Given the description of an element on the screen output the (x, y) to click on. 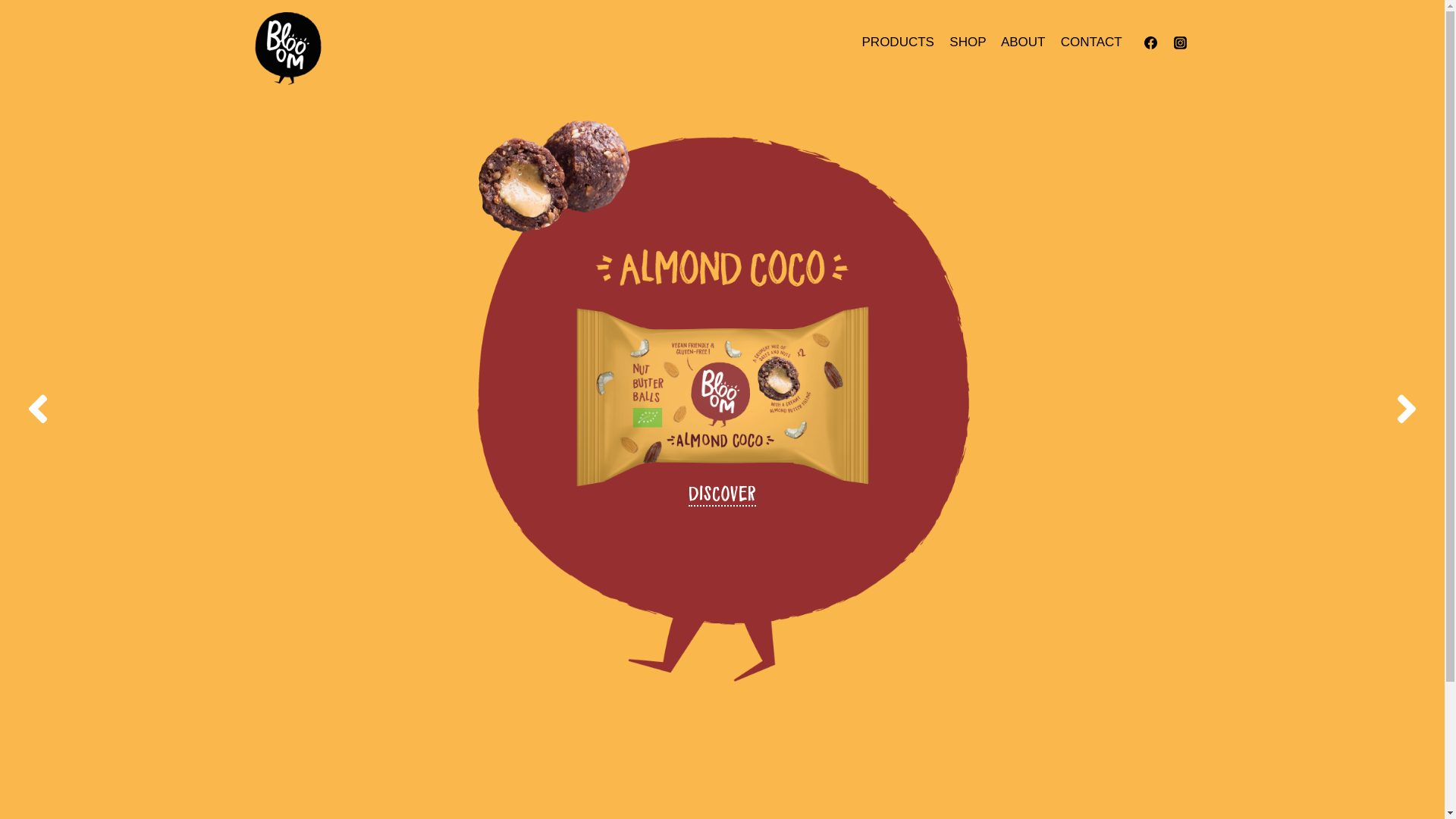
DISCOVER Element type: text (721, 499)
ABOUT Element type: text (1023, 42)
CONTACT Element type: text (1091, 42)
SHOP Element type: text (967, 42)
PRODUCTS Element type: text (897, 42)
